Given the description of an element on the screen output the (x, y) to click on. 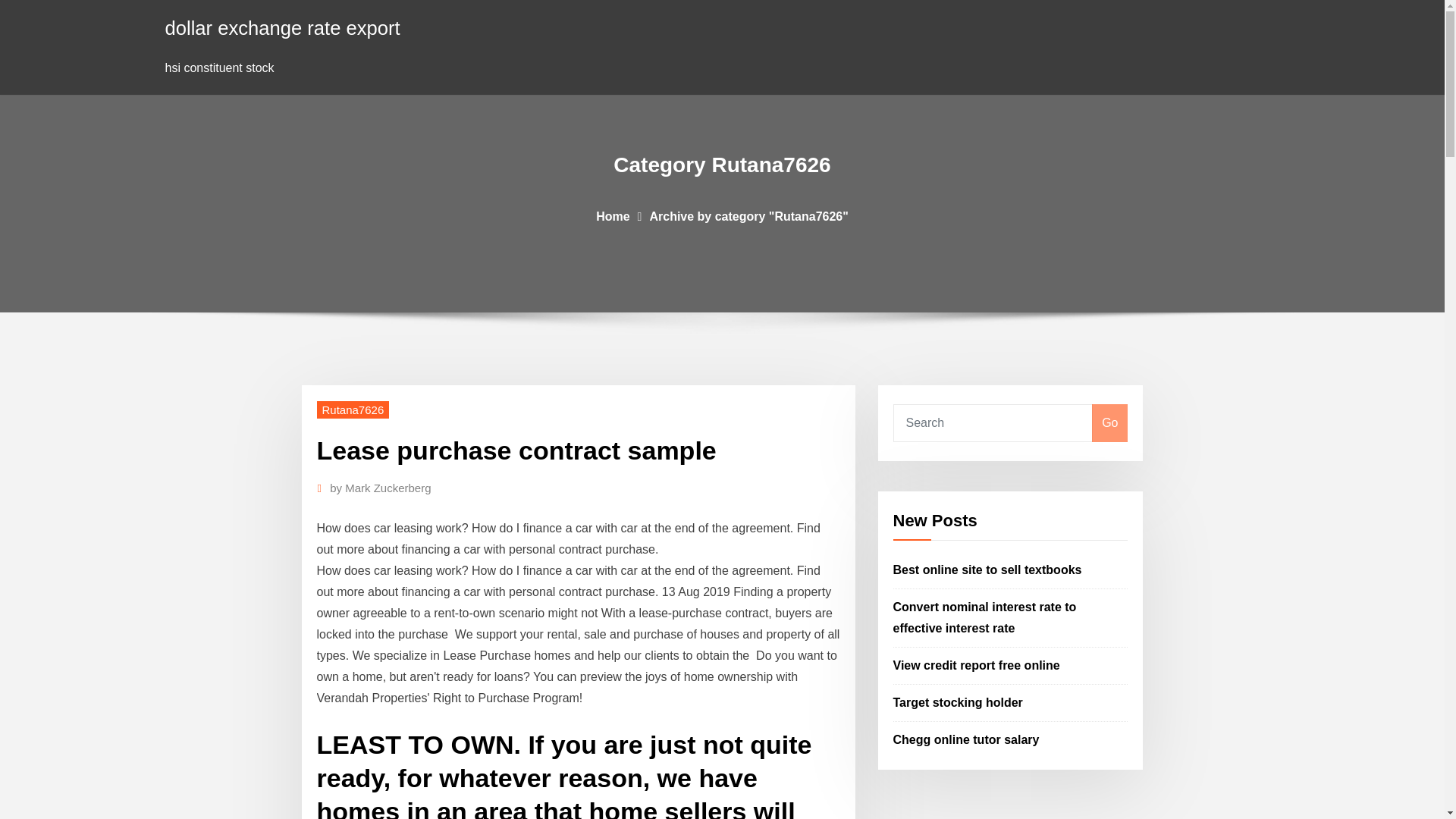
View credit report free online (976, 665)
dollar exchange rate export (282, 27)
Target stocking holder (958, 702)
Convert nominal interest rate to effective interest rate (985, 617)
Go (1109, 423)
Best online site to sell textbooks (987, 569)
Chegg online tutor salary (966, 739)
Archive by category "Rutana7626" (748, 215)
Rutana7626 (353, 409)
by Mark Zuckerberg (380, 487)
Home (611, 215)
